Given the description of an element on the screen output the (x, y) to click on. 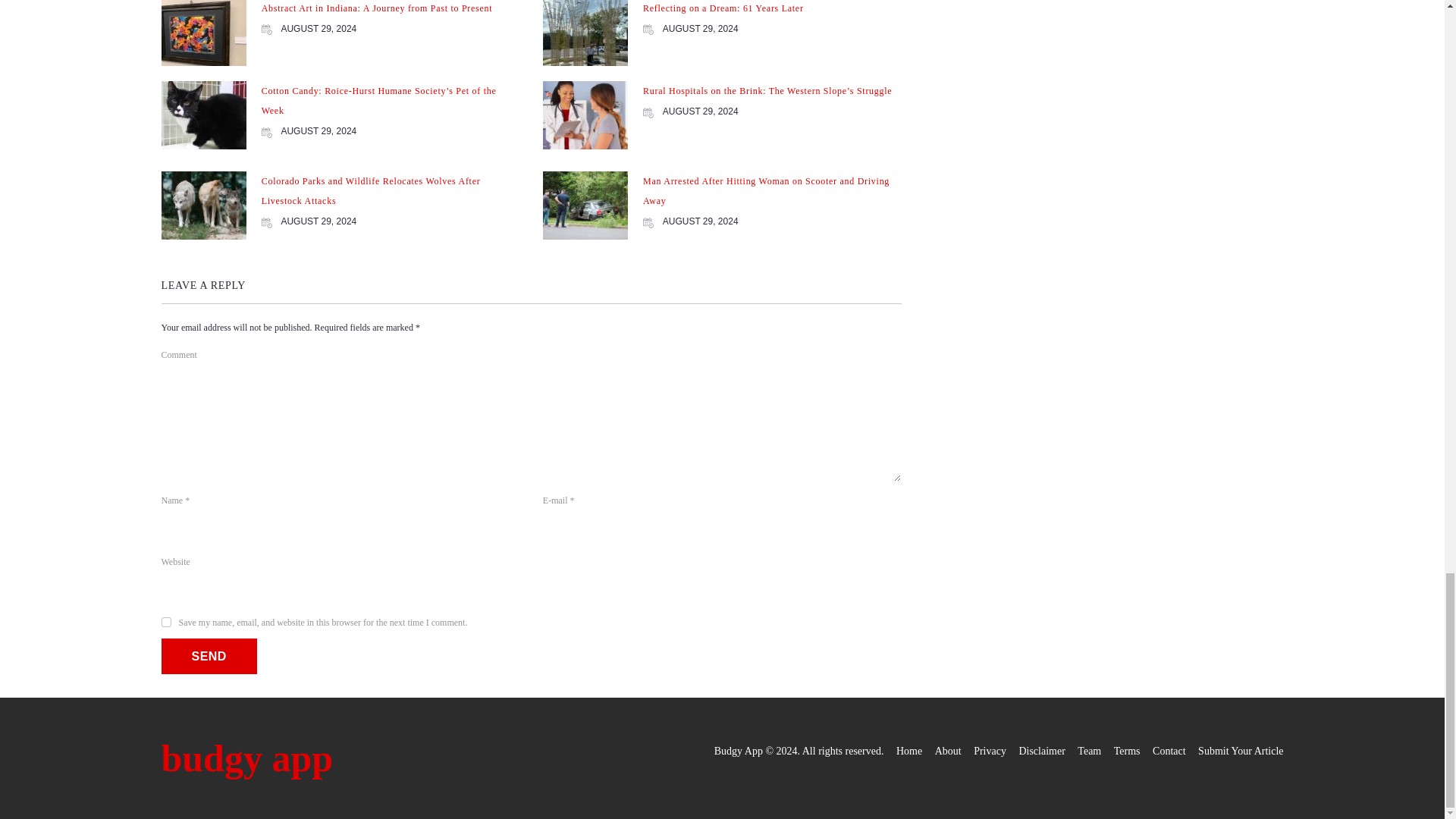
Abstract Art in Indiana: A Journey from Past to Present (377, 8)
Reflecting on a Dream: 61 Years Later (723, 8)
Send (208, 656)
Man Arrested After Hitting Woman on Scooter and Driving Away (766, 191)
